Given the description of an element on the screen output the (x, y) to click on. 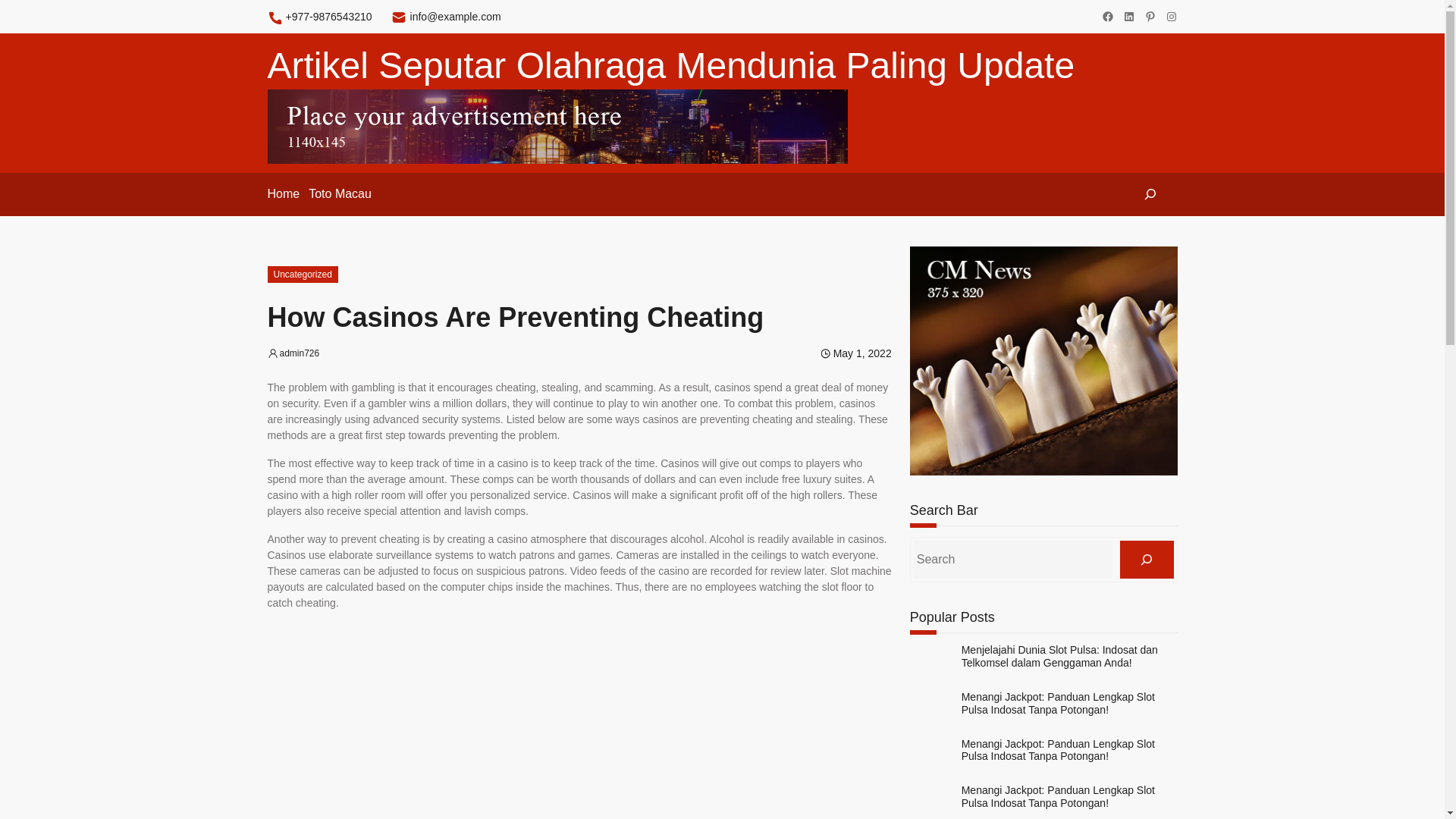
Instagram (1170, 16)
Pinterest (1149, 16)
LinkedIn (1128, 16)
Home (282, 194)
Uncategorized (301, 274)
Facebook (1106, 16)
Artikel Seputar Olahraga Mendunia Paling Update (670, 65)
Toto Macau (339, 194)
